Given the description of an element on the screen output the (x, y) to click on. 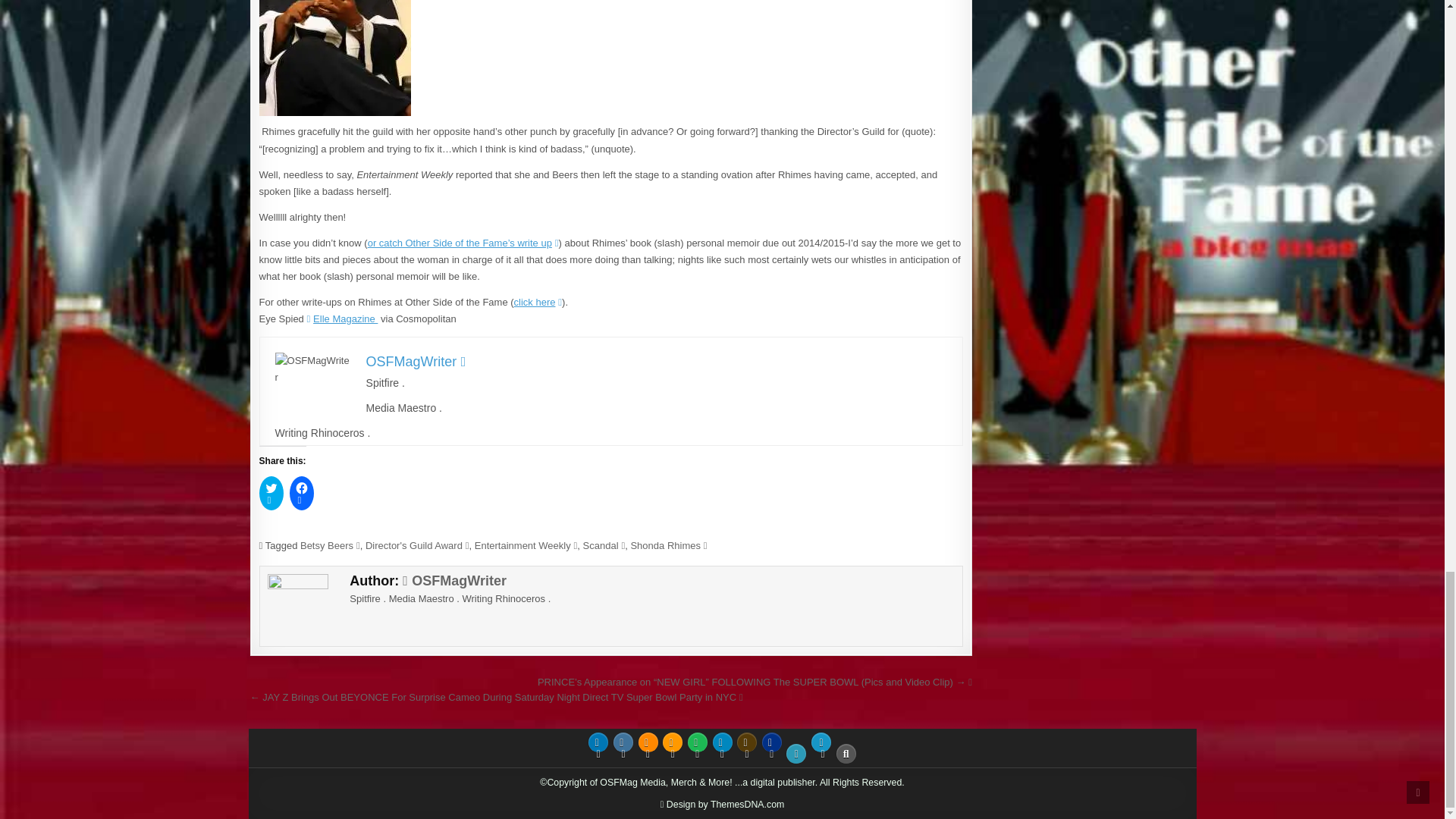
Betsy Beers (329, 545)
Design by ThemesDNA.com (722, 803)
click here (537, 301)
Entertainment Weekly (526, 545)
OSFMagWriter (415, 361)
OSFMagWriter (454, 580)
Director's Guild Award (416, 545)
Scandal (604, 545)
Shonda Rhimes (668, 545)
Elle Magazine (341, 318)
